Given the description of an element on the screen output the (x, y) to click on. 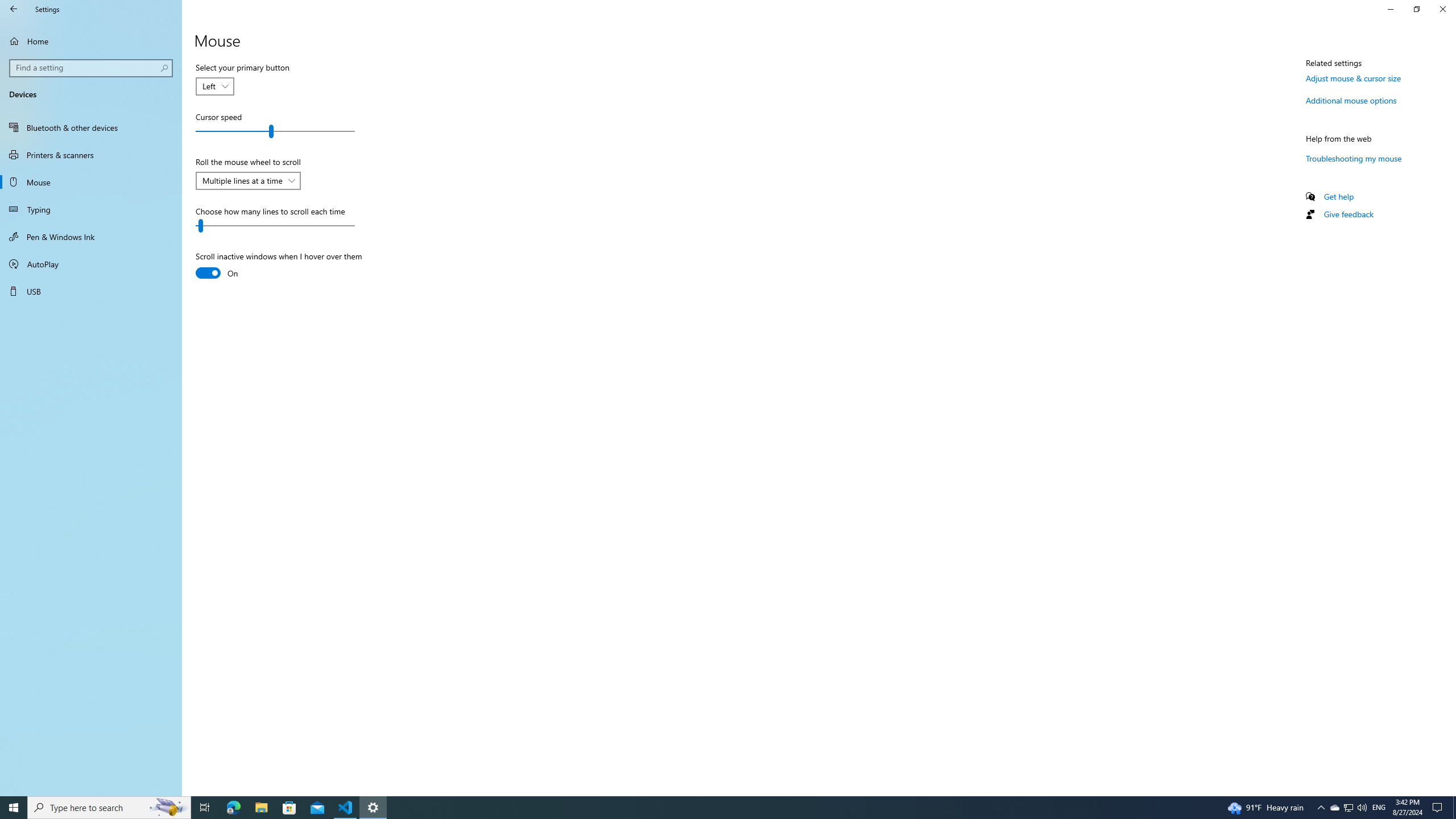
Settings - 1 running window (373, 807)
Running applications (706, 807)
Select your primary button (214, 85)
Scroll inactive windows when I hover over them (278, 265)
Bluetooth & other devices (91, 126)
Search box, Find a setting (91, 67)
Troubleshooting my mouse (1354, 158)
Roll the mouse wheel to scroll (248, 180)
